Given the description of an element on the screen output the (x, y) to click on. 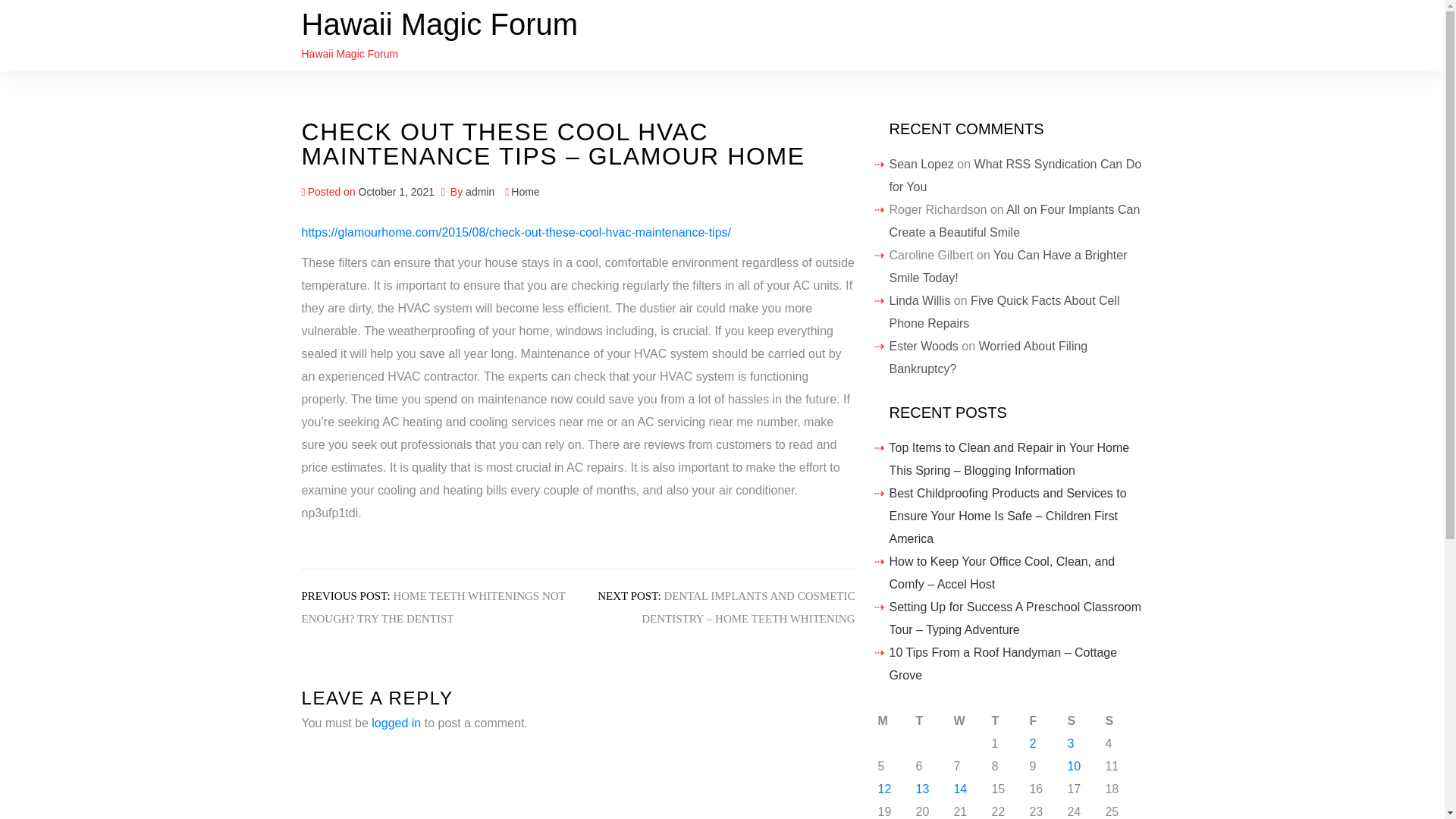
logged in (395, 722)
14 (959, 788)
Saturday (1086, 721)
Tuesday (934, 721)
Hawaii Magic Forum (439, 23)
Thursday (1010, 721)
Ester Woods (923, 345)
admin (480, 191)
Linda Willis (919, 300)
Wednesday (972, 721)
